Given the description of an element on the screen output the (x, y) to click on. 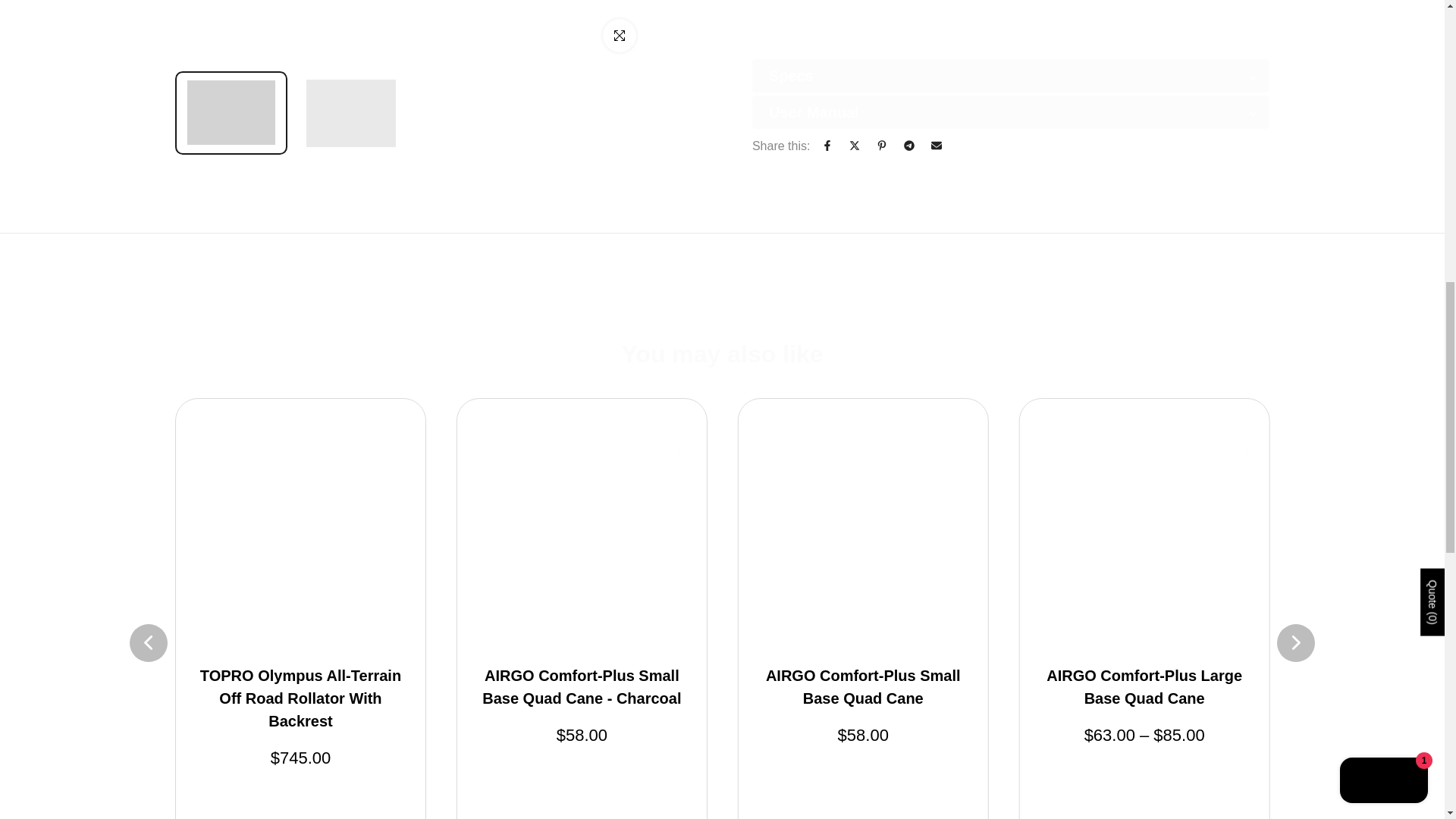
Share on Facebook (826, 145)
Share on Pinterest (882, 145)
Share on Email (936, 145)
Share on Telegram (908, 145)
Share on Twitter (854, 145)
